Given the description of an element on the screen output the (x, y) to click on. 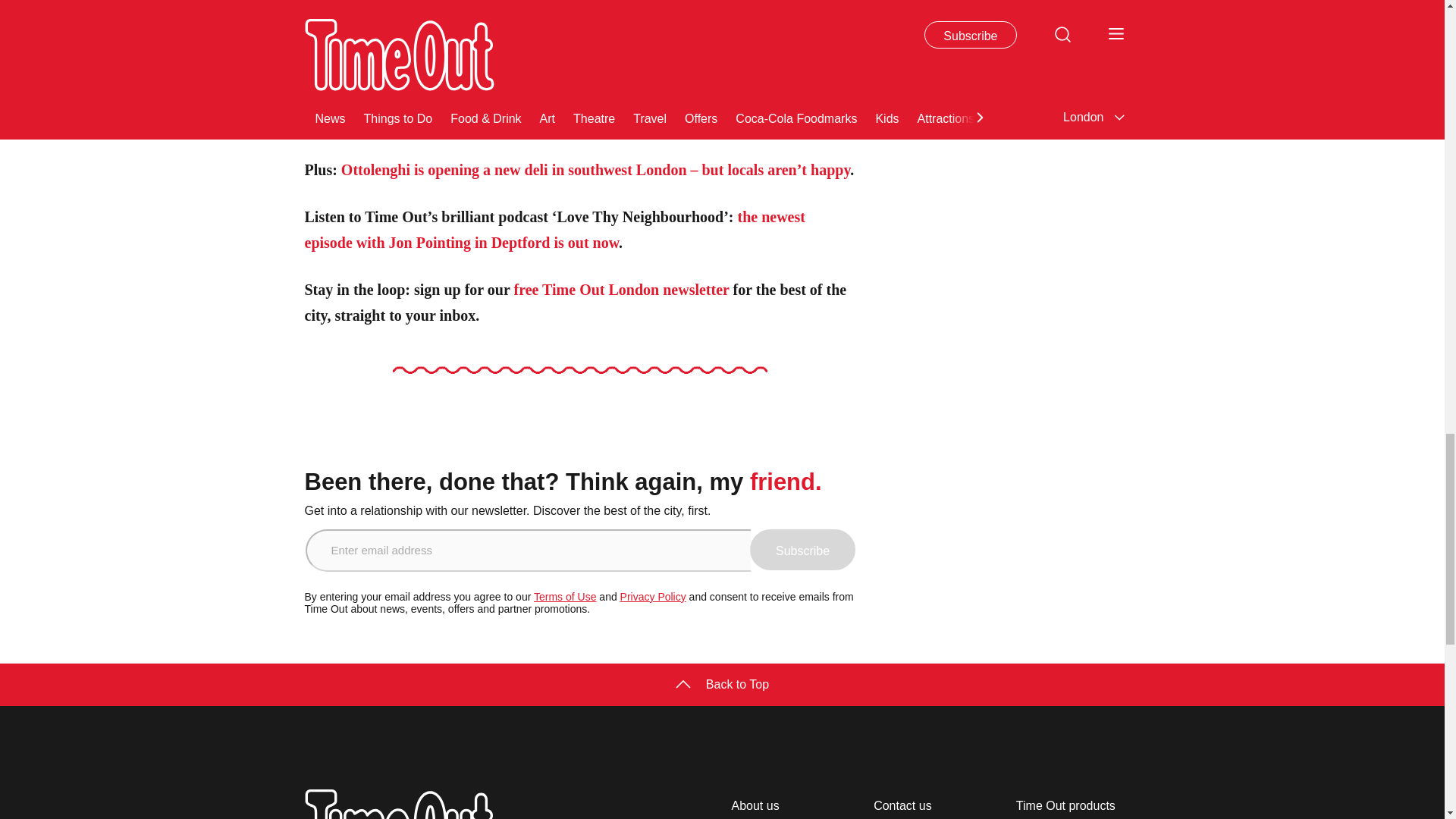
Subscribe (802, 549)
